Given the description of an element on the screen output the (x, y) to click on. 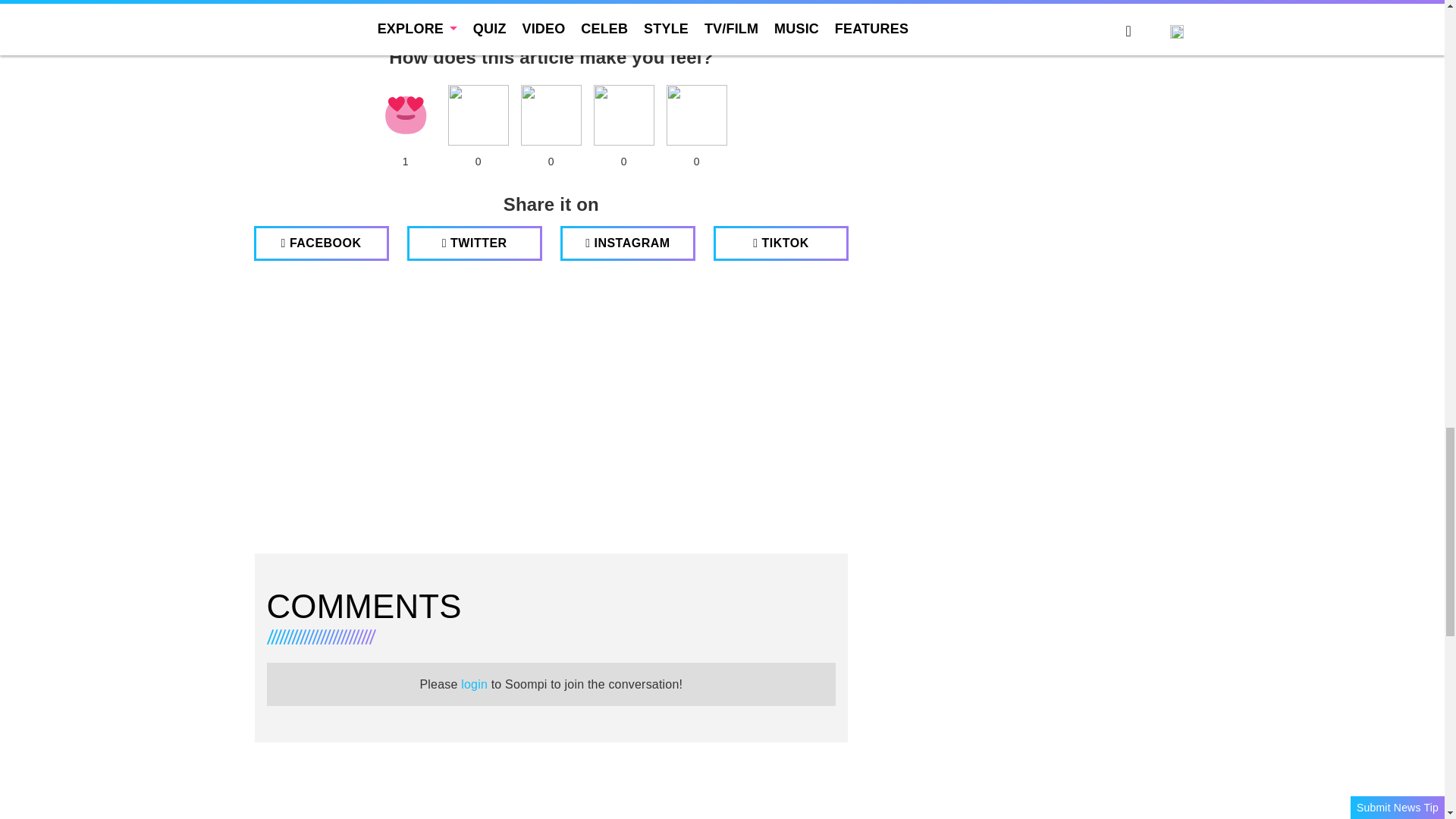
lol (478, 115)
fire (550, 115)
Fire (550, 115)
LOL (478, 115)
OMG (696, 115)
cry (623, 115)
omg (696, 115)
Heart (405, 115)
Crying (623, 115)
SUNNY (381, 22)
heart (405, 115)
Girls' Generation (301, 22)
GIRLS' GENERATION (301, 22)
Sunny (381, 22)
